Given the description of an element on the screen output the (x, y) to click on. 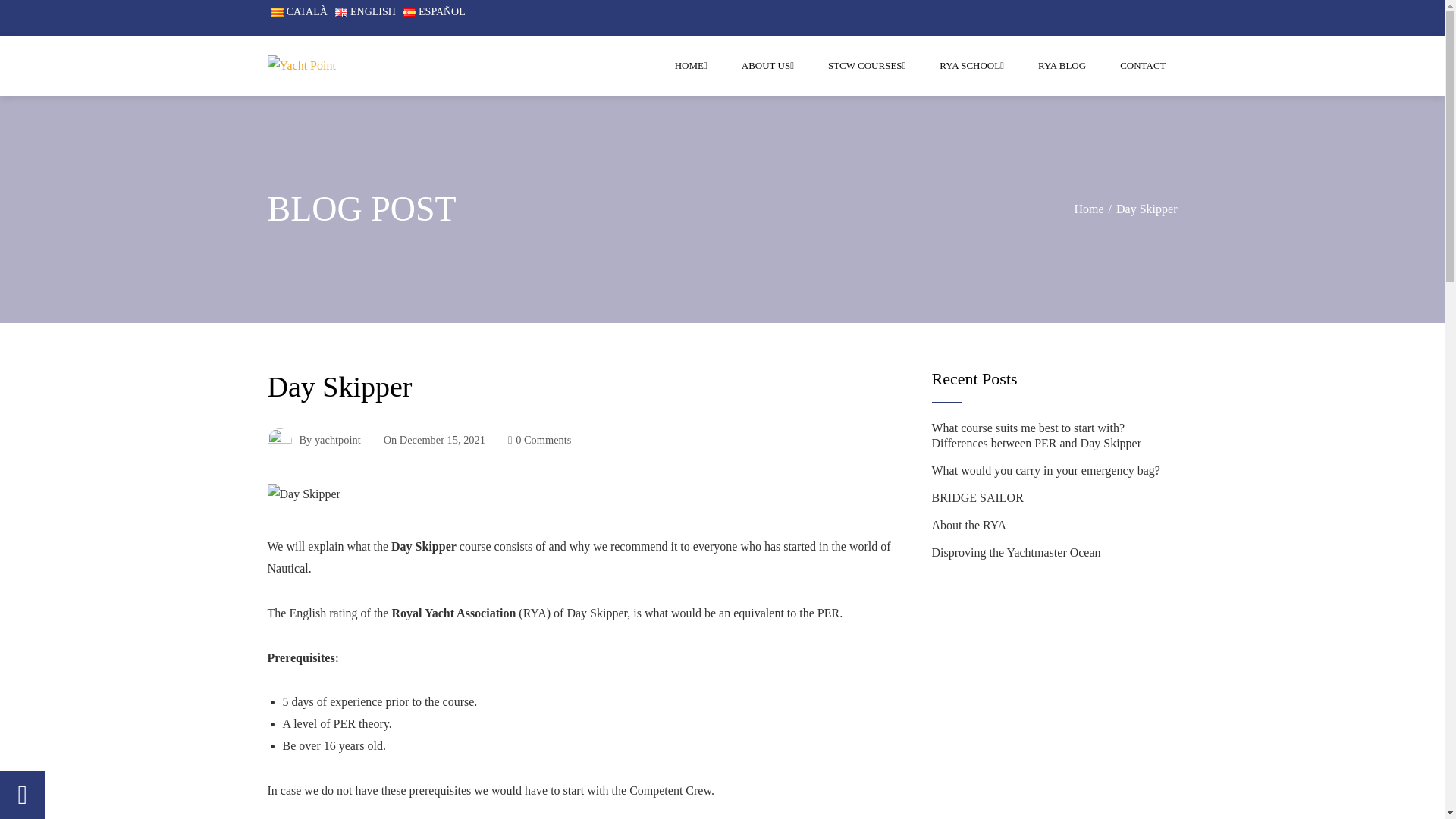
ENGLISH (365, 11)
ABOUT US (767, 65)
HOME (691, 65)
RYA SCHOOL (971, 65)
STCW COURSES (866, 65)
